Given the description of an element on the screen output the (x, y) to click on. 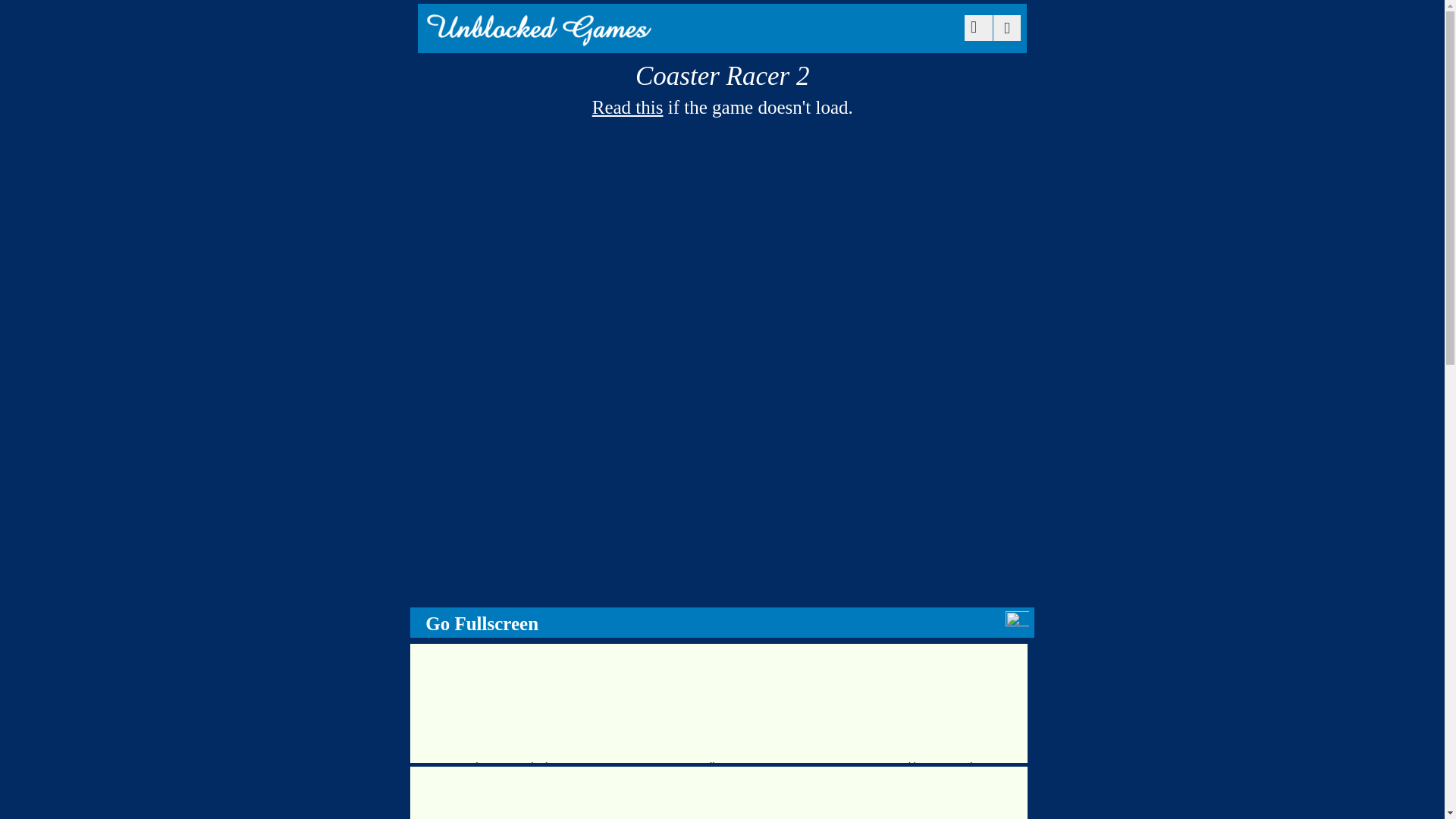
Candy Land Transport (718, 792)
Cave Chaos 1 (512, 792)
Read this (627, 107)
Unblocked Games (538, 36)
Collapse It (718, 702)
Cardmania Pyramid Solitaire (512, 702)
Creeper World Training Simulator (924, 702)
Search (975, 27)
